Given the description of an element on the screen output the (x, y) to click on. 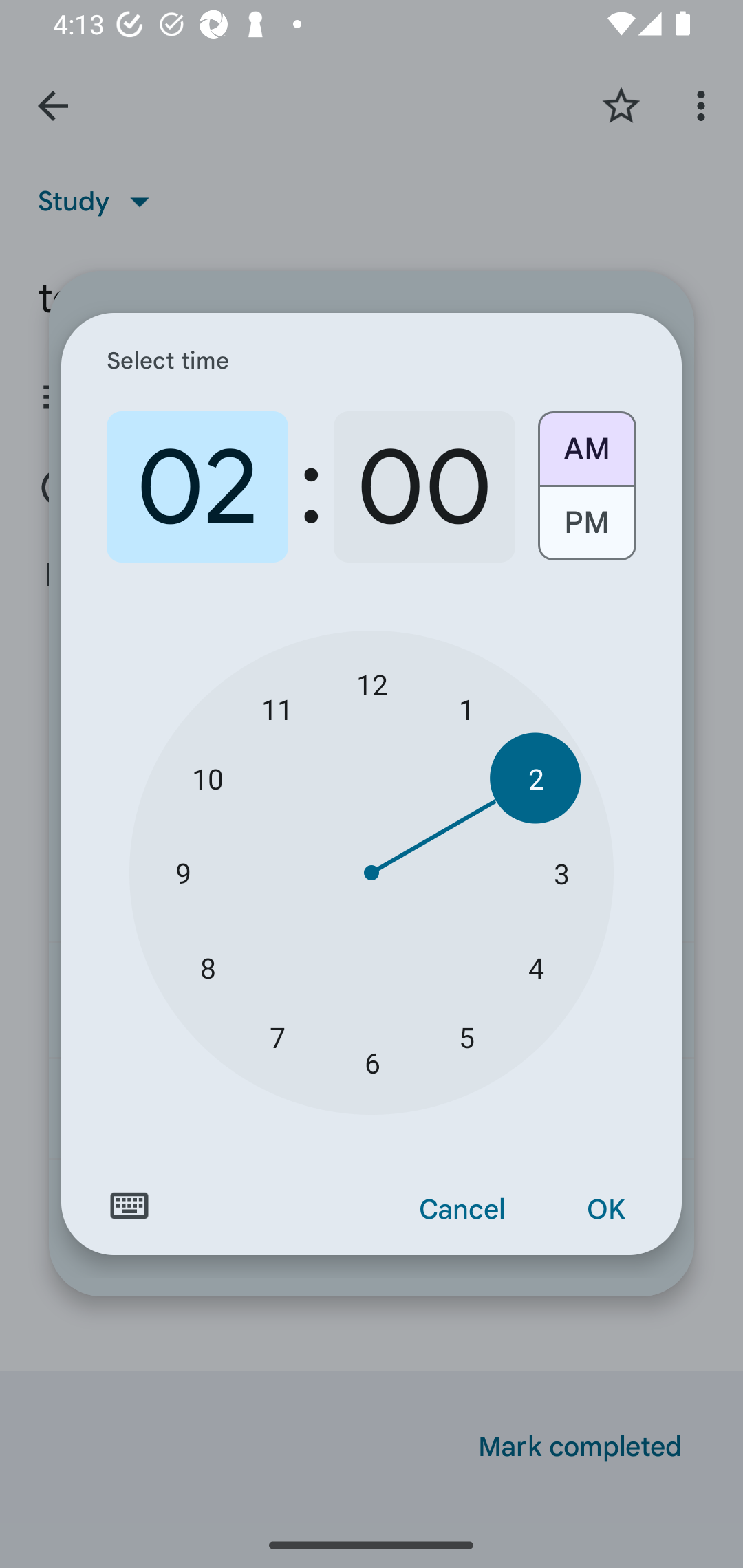
AM (586, 441)
02 2 o'clock (197, 486)
00 0 minutes (424, 486)
PM (586, 529)
12 12 o'clock (371, 683)
11 11 o'clock (276, 708)
1 1 o'clock (466, 708)
10 10 o'clock (207, 778)
2 2 o'clock (535, 778)
9 9 o'clock (182, 872)
3 3 o'clock (561, 872)
8 8 o'clock (207, 966)
4 4 o'clock (535, 966)
7 7 o'clock (276, 1035)
5 5 o'clock (466, 1035)
6 6 o'clock (371, 1062)
Switch to text input mode for the time input. (128, 1205)
Cancel (462, 1209)
OK (605, 1209)
